Given the description of an element on the screen output the (x, y) to click on. 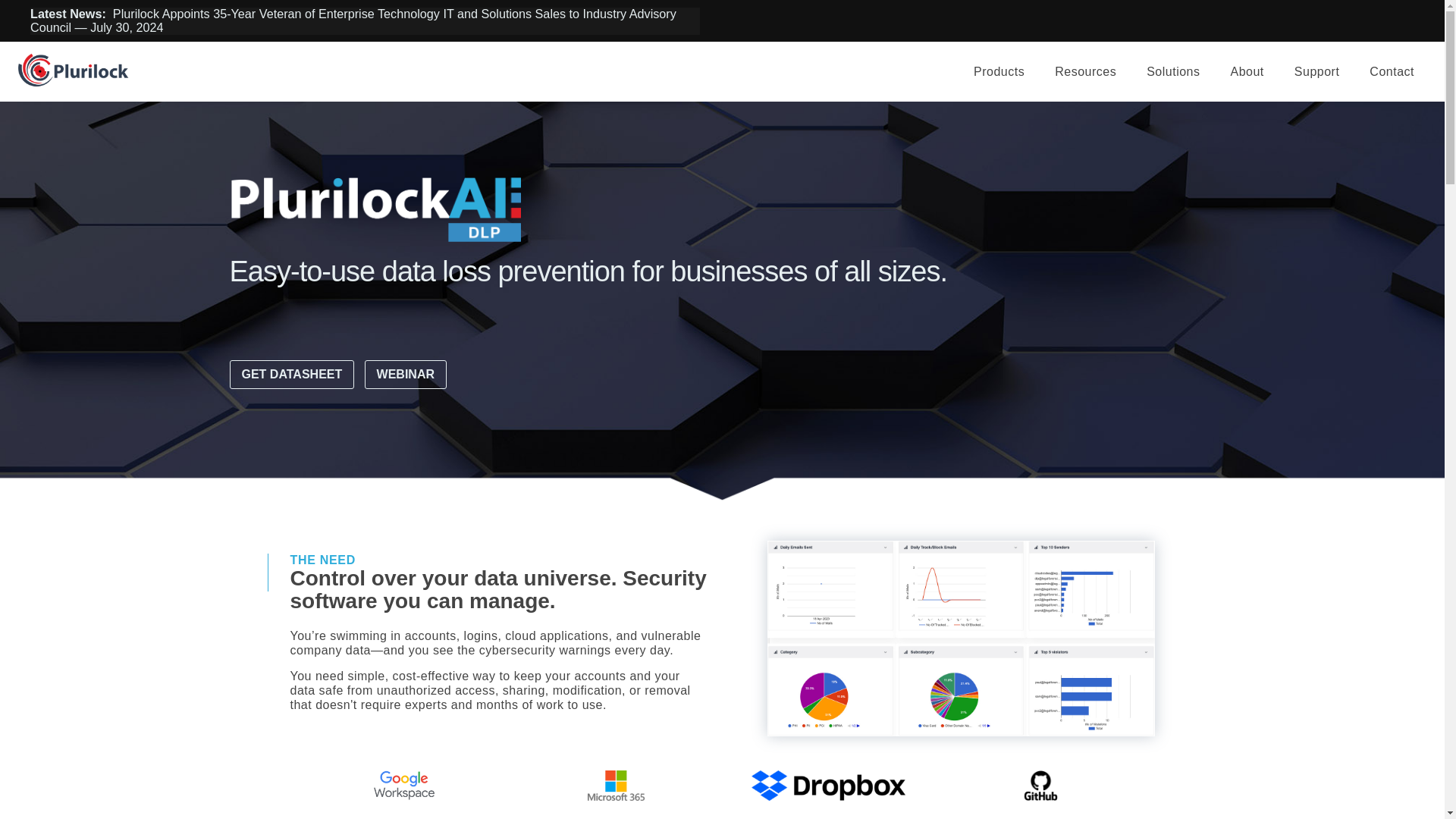
Resources (1085, 71)
Solutions (1172, 71)
Products (998, 71)
Support (1317, 71)
About (1246, 71)
